Given the description of an element on the screen output the (x, y) to click on. 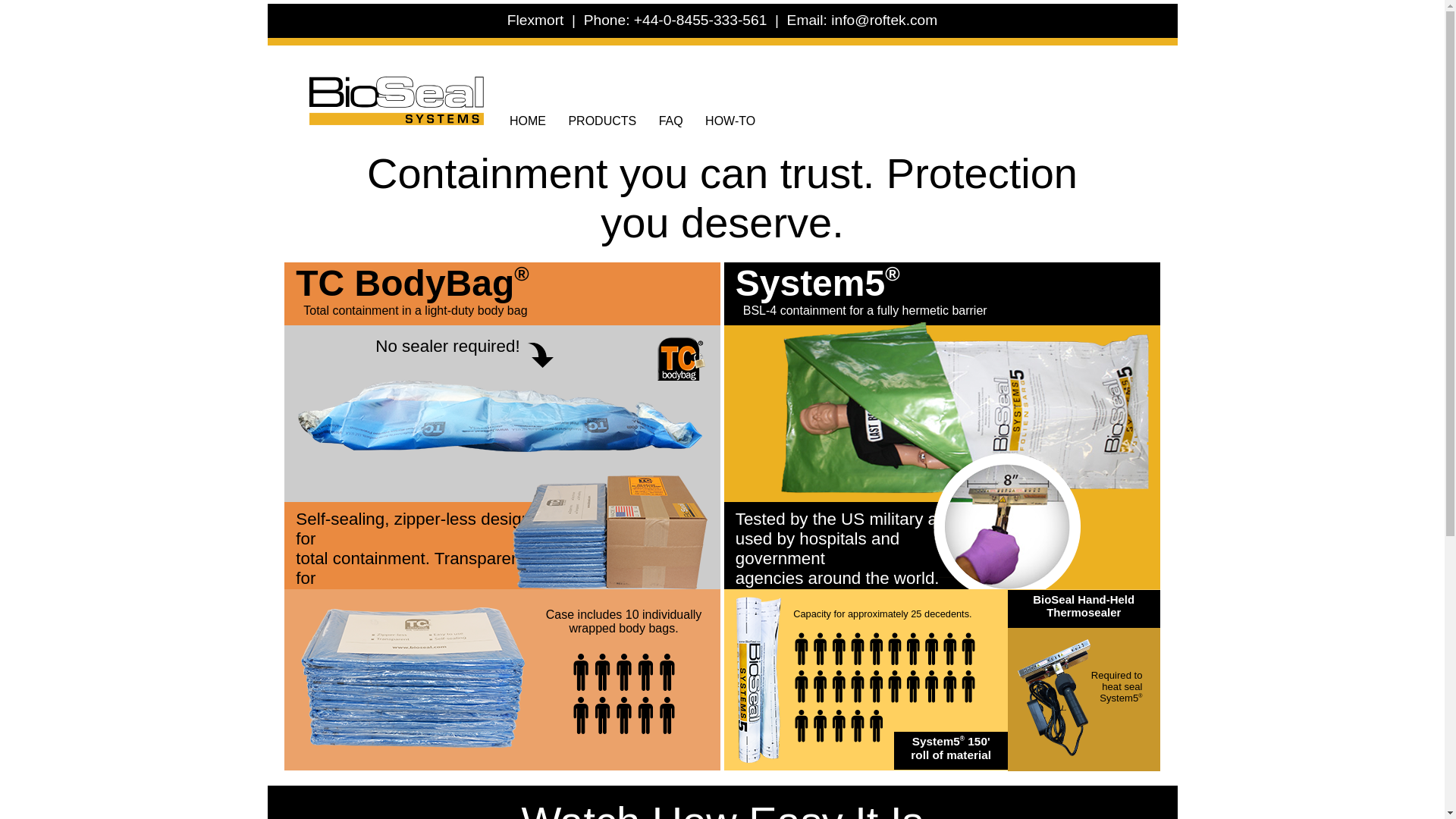
PRODUCTS (601, 120)
HOME (527, 120)
FAQ (670, 120)
HOW-TO (729, 120)
